Given the description of an element on the screen output the (x, y) to click on. 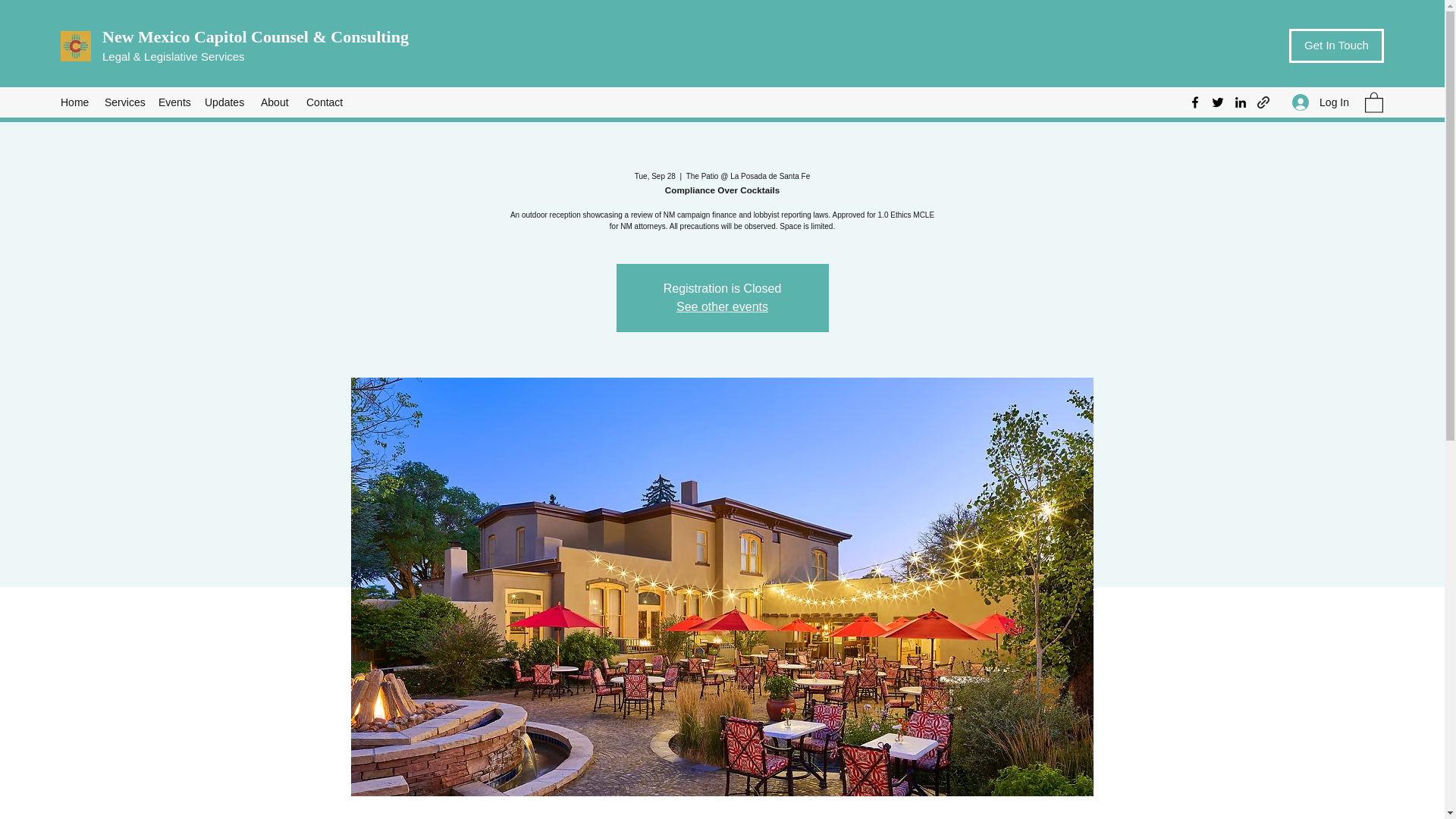
See other events (722, 306)
Updates (224, 101)
Services (124, 101)
Get In Touch (1336, 45)
Home (74, 101)
Contact (325, 101)
About (275, 101)
Events (173, 101)
Log In (1320, 102)
